Given the description of an element on the screen output the (x, y) to click on. 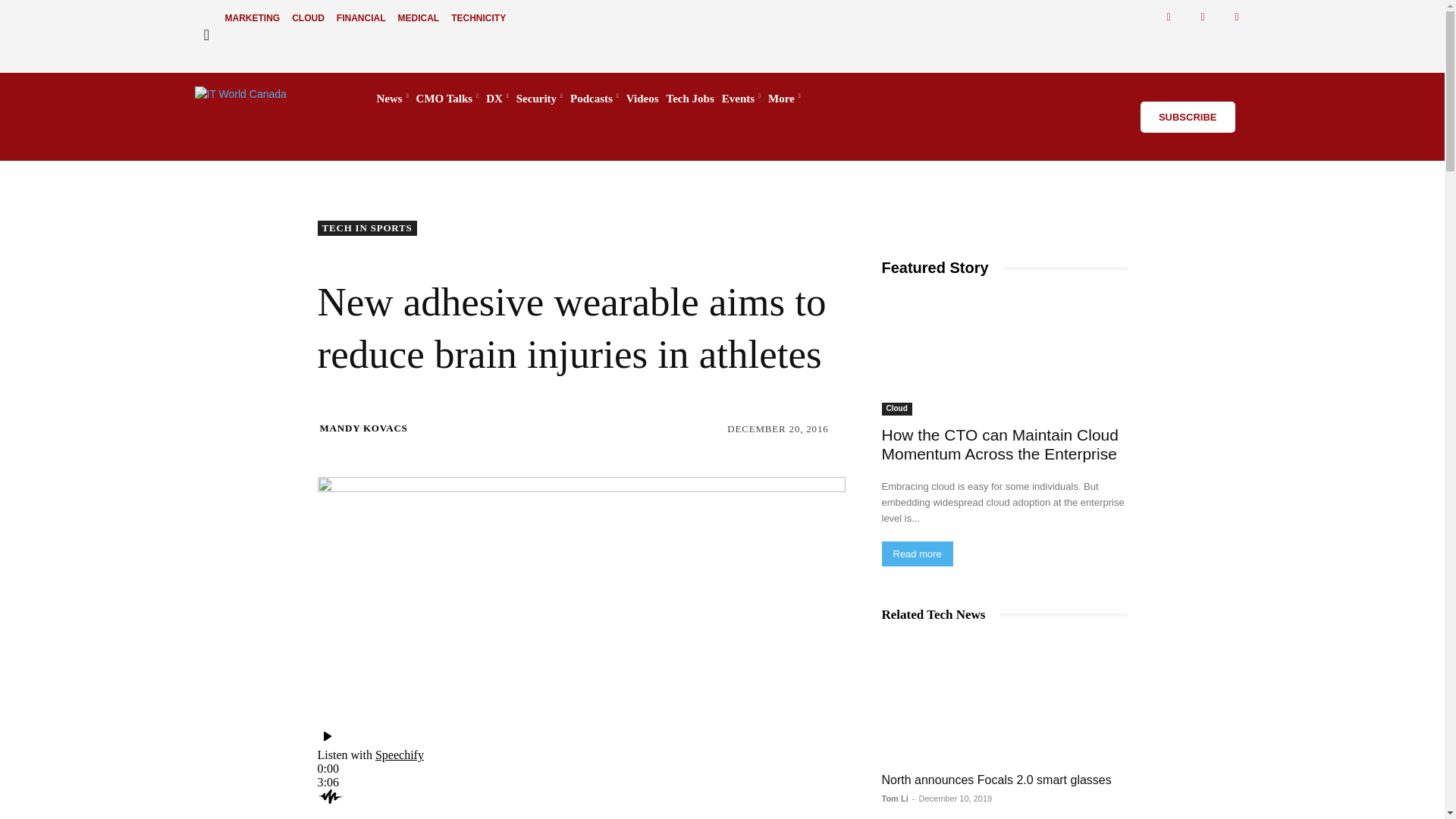
MARKETING (251, 18)
Twitter (1202, 17)
MEDICAL (418, 18)
News (391, 98)
CLOUD (307, 18)
Rss (1237, 17)
Facebook (1169, 17)
TECHNICITY (478, 18)
FINANCIAL (360, 18)
IT World Canada - IT News (269, 98)
